Given the description of an element on the screen output the (x, y) to click on. 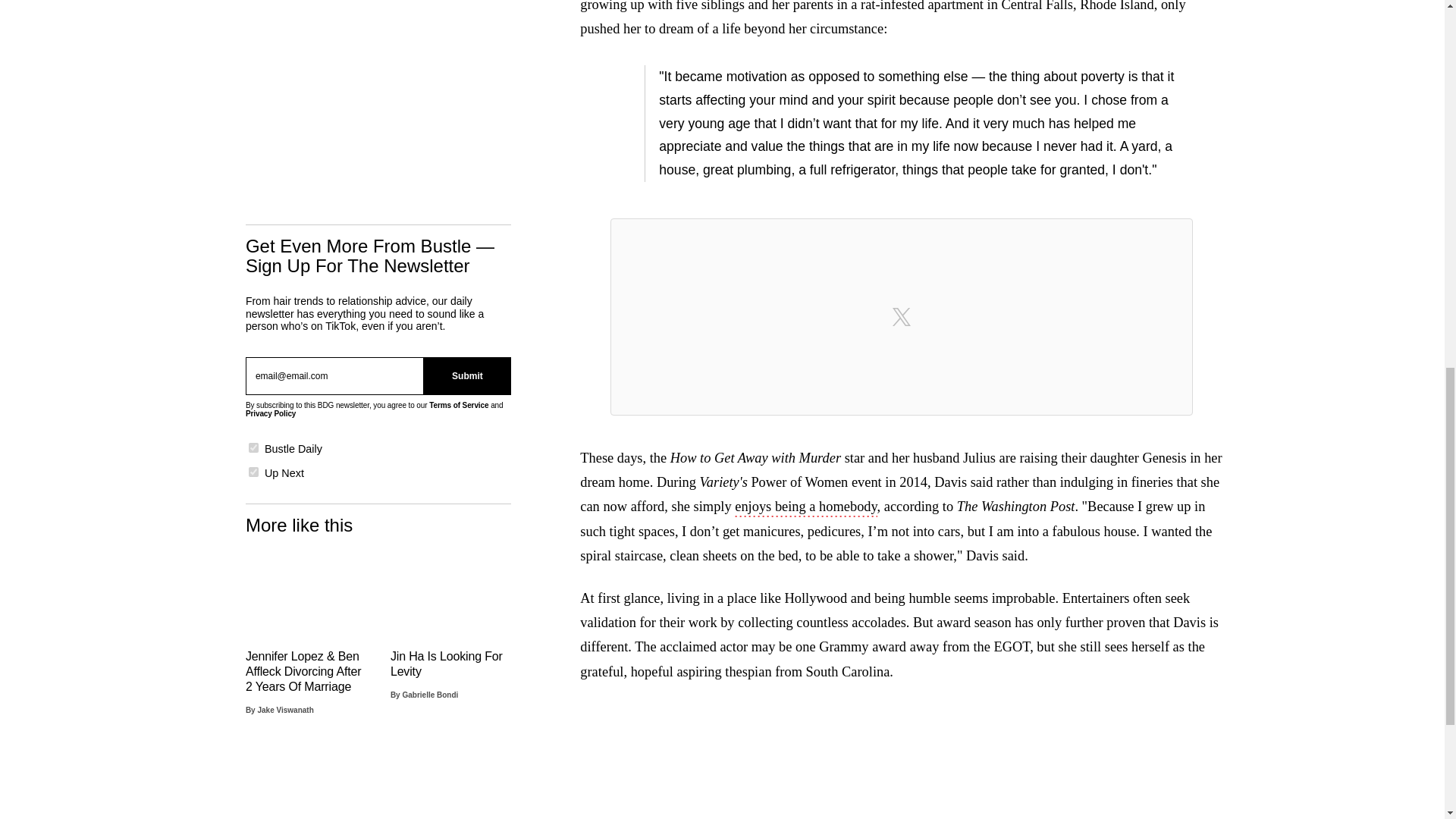
Submit (467, 374)
Privacy Policy (270, 413)
Terms of Service (458, 405)
enjoys being a homebody (805, 507)
